Given the description of an element on the screen output the (x, y) to click on. 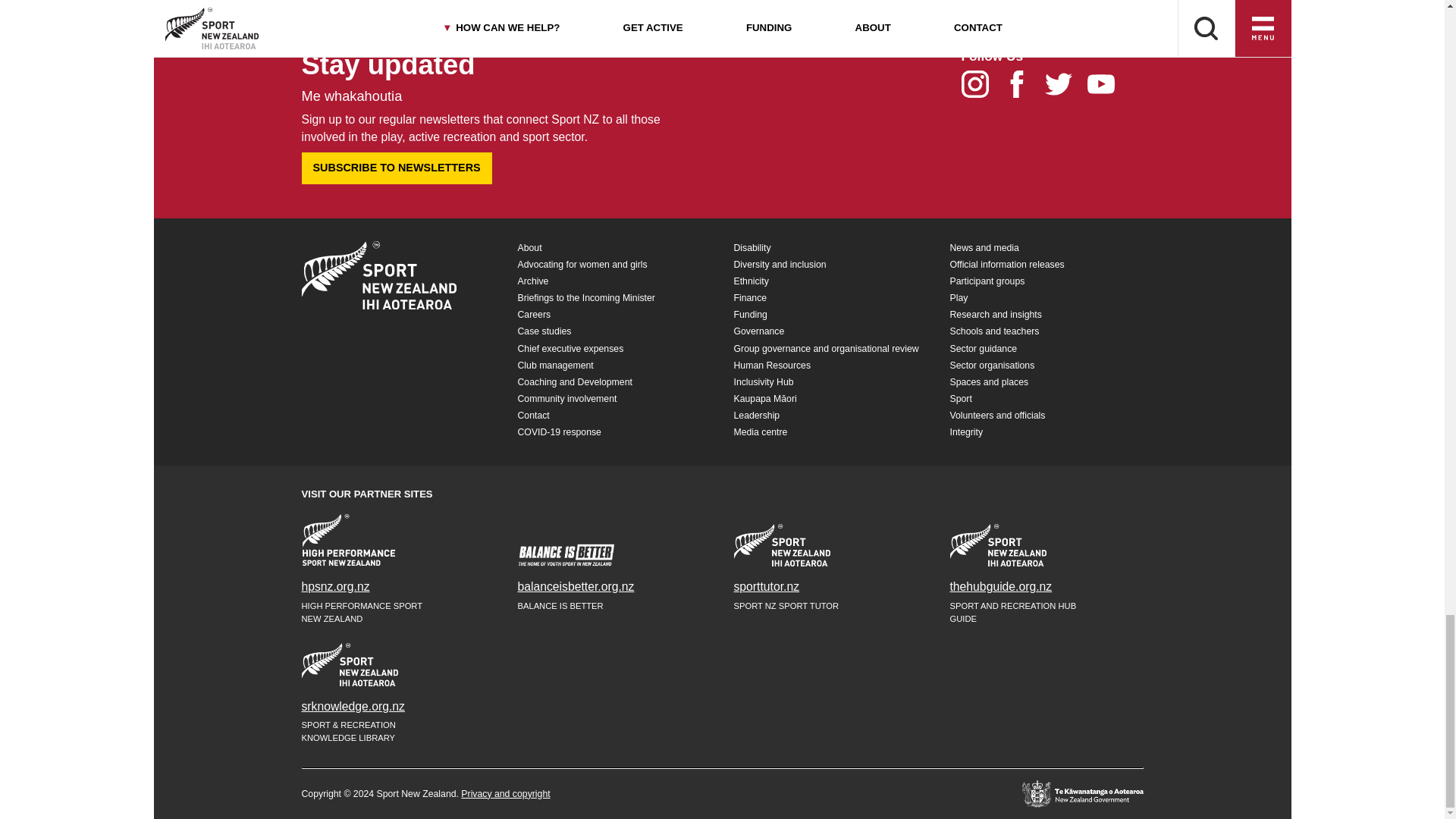
Twitter (1065, 88)
Facebook (1024, 88)
YouTube (1106, 88)
Instagram (981, 88)
